Given the description of an element on the screen output the (x, y) to click on. 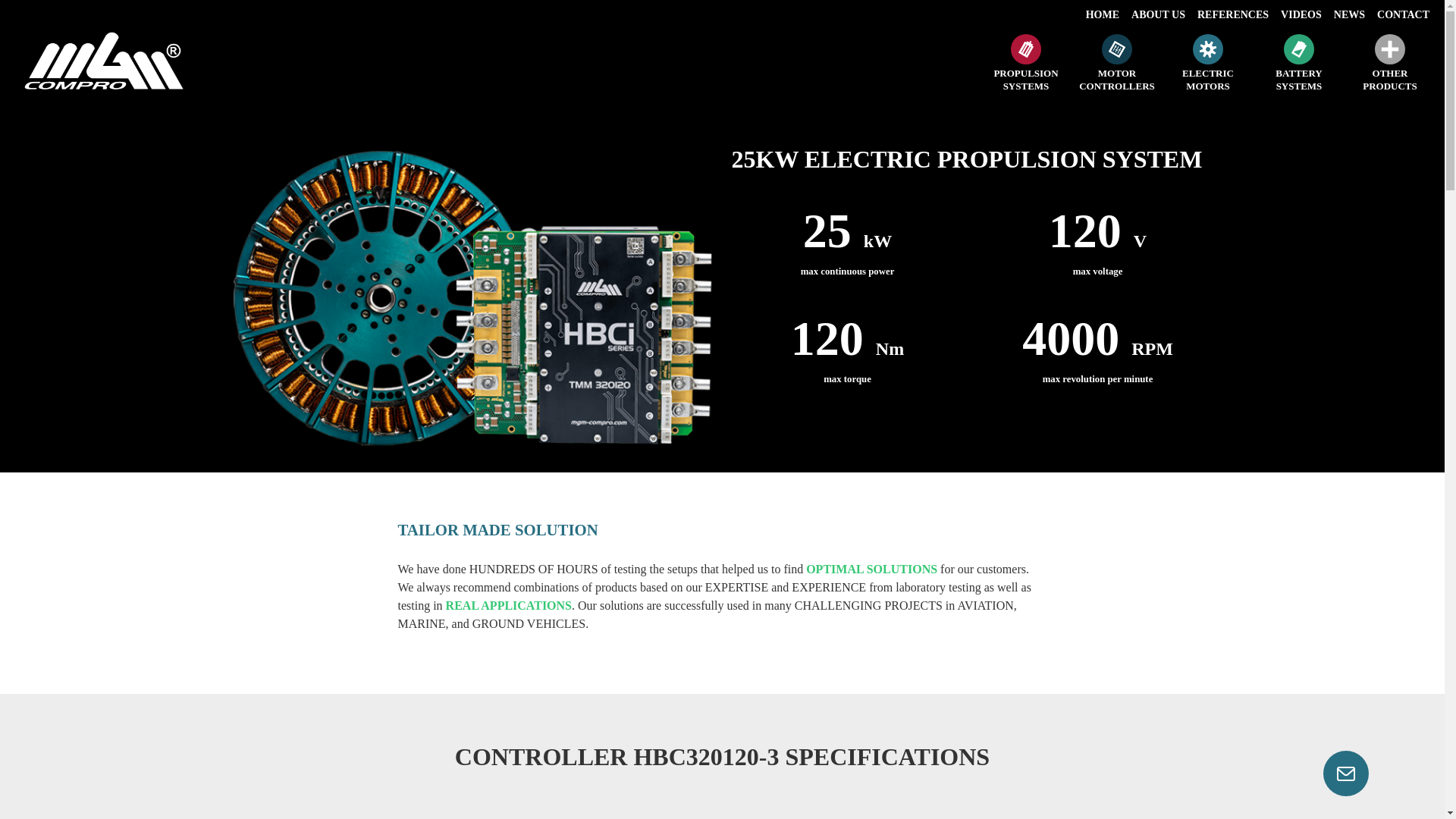
REFERENCES (1233, 15)
HOME (1102, 15)
ELECTRIC MOTORS (1207, 63)
OTHER PRODUCTS (1389, 63)
VIDEOS (1301, 15)
CONTACT (1403, 15)
ABOUT US (1298, 63)
NEWS (1158, 15)
MOTOR CONTROLLERS (1349, 15)
